Given the description of an element on the screen output the (x, y) to click on. 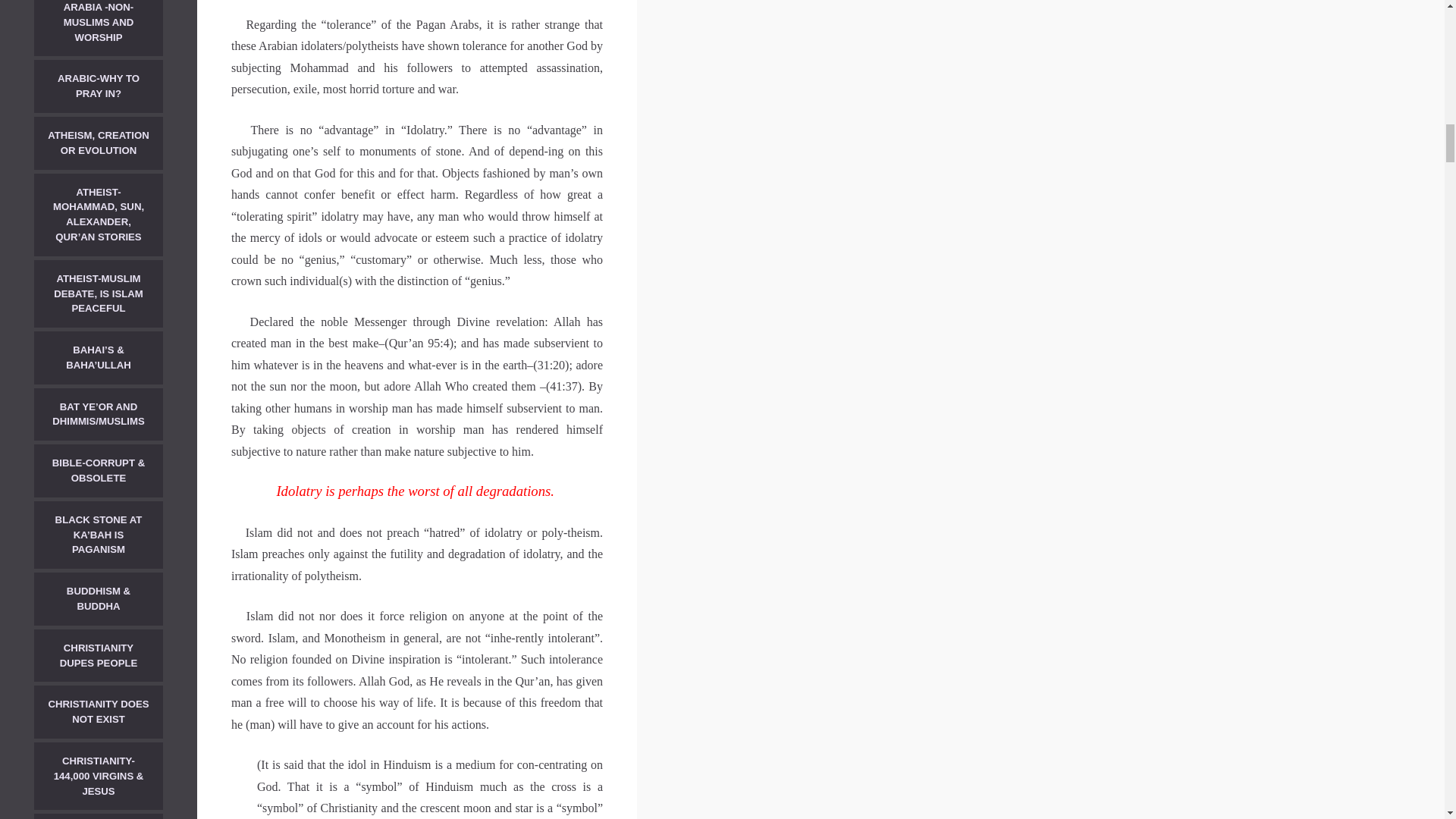
ARABIC-WHY TO PRAY IN? (98, 86)
ARABIA -NON-MUSLIMS AND WORSHIP (98, 28)
ATHEISM, CREATION OR EVOLUTION (98, 143)
